Given the description of an element on the screen output the (x, y) to click on. 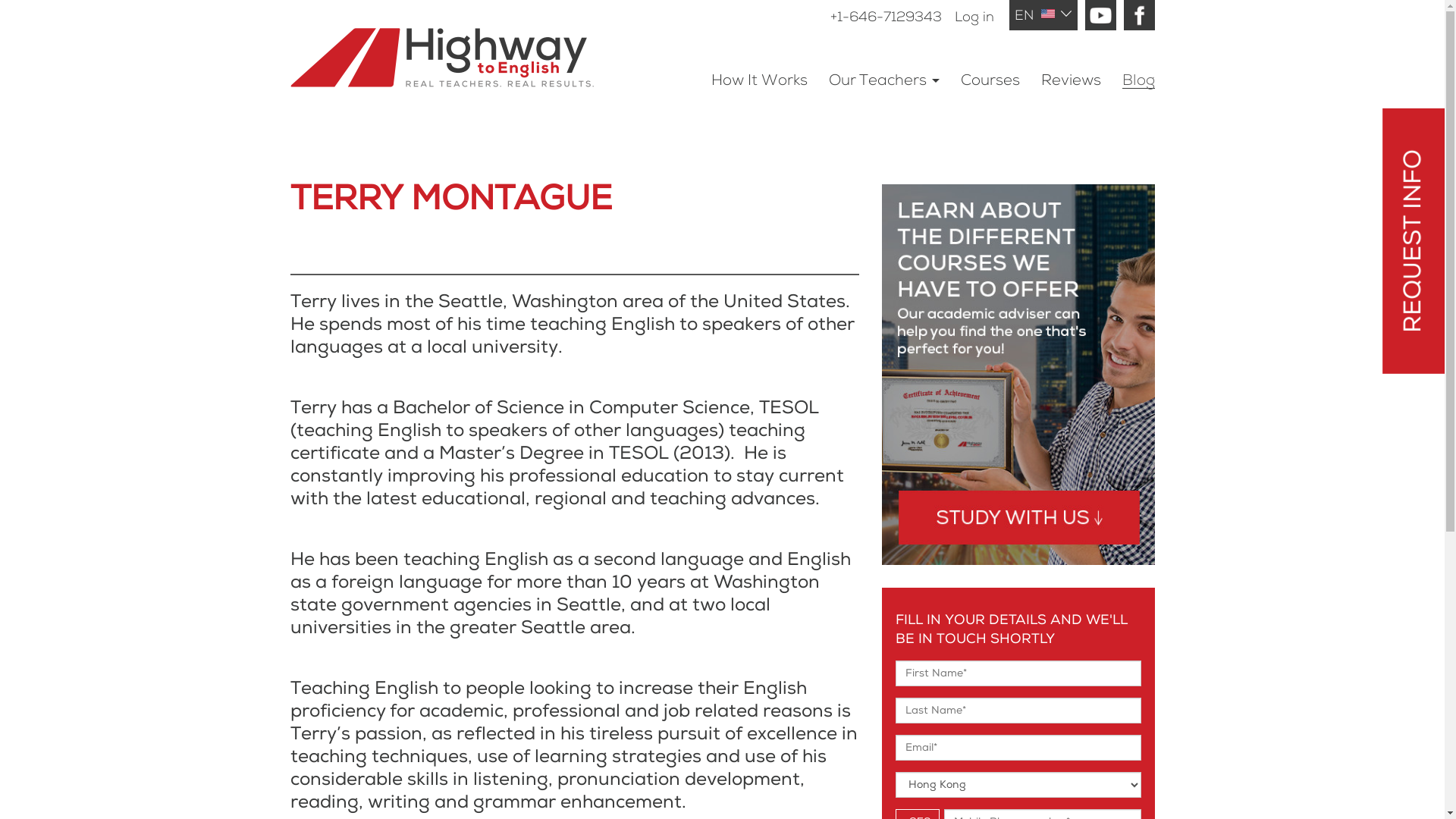
Reviews Element type: text (1070, 76)
Please enter your last name Element type: hover (1017, 710)
EN Element type: text (1042, 15)
How It Works Element type: text (759, 76)
Facebook Element type: hover (1138, 15)
English Element type: hover (1047, 13)
Please enter your first name Element type: hover (1017, 673)
HighwayToEnglish homepage Element type: hover (463, 43)
Log in Element type: text (973, 16)
Youtube Element type: hover (1099, 15)
+1-646-7129343 Element type: text (885, 16)
Our Teachers Element type: text (883, 76)
Courses Element type: text (989, 76)
Blog Element type: text (1138, 76)
EN Element type: text (1042, 12)
Please enter your email address Element type: hover (1017, 747)
